Given the description of an element on the screen output the (x, y) to click on. 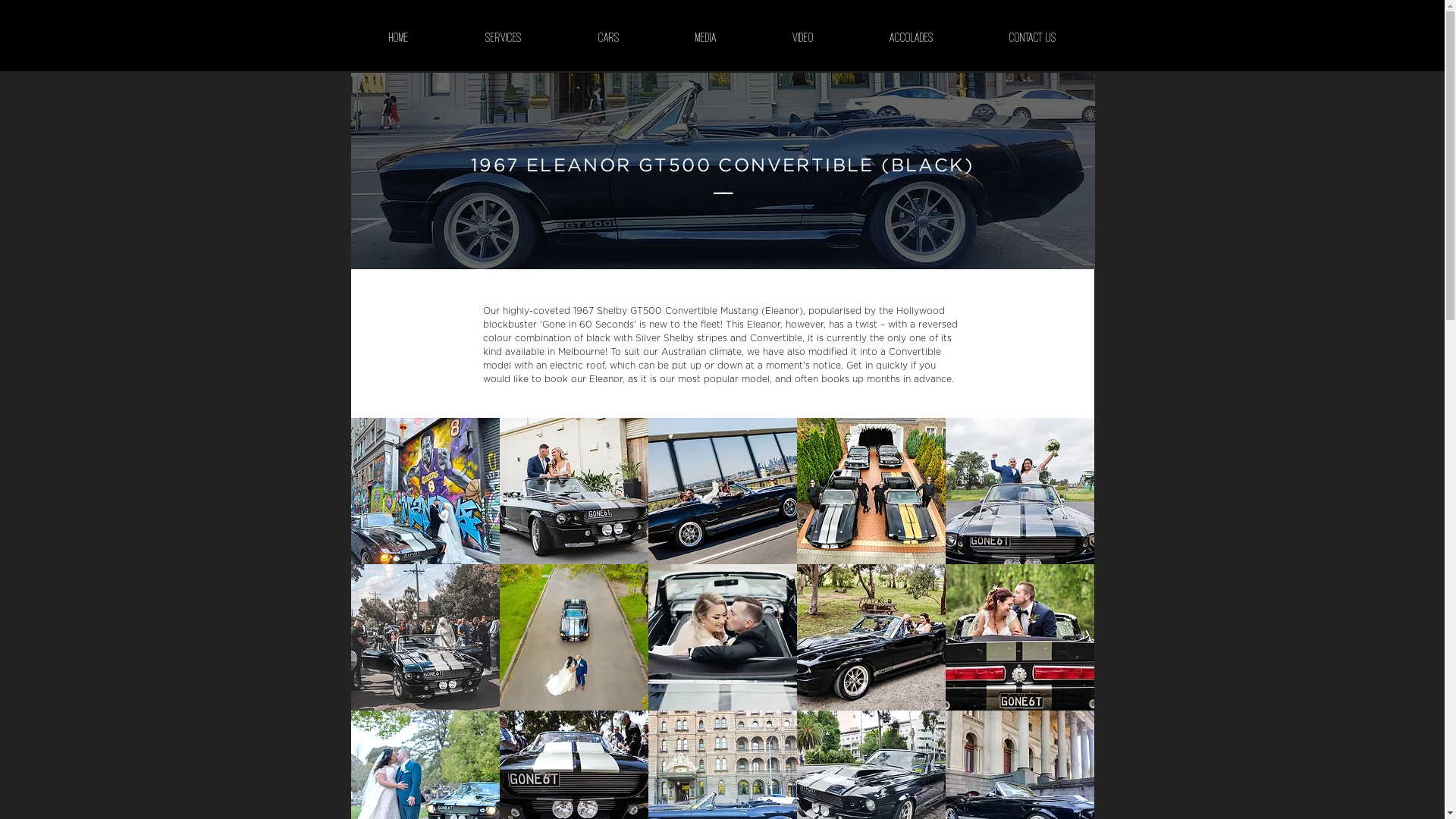
HOME Element type: text (398, 37)
ACCOLADES Element type: text (910, 37)
CARS Element type: text (607, 37)
SERVICES Element type: text (503, 37)
CONTACT US Element type: text (1031, 37)
1967 Shelby GT500 Convertible Ford Mustang - Eleanor Element type: hover (722, 170)
MEDIA Element type: text (704, 37)
VIDEO Element type: text (801, 37)
